Given the description of an element on the screen output the (x, y) to click on. 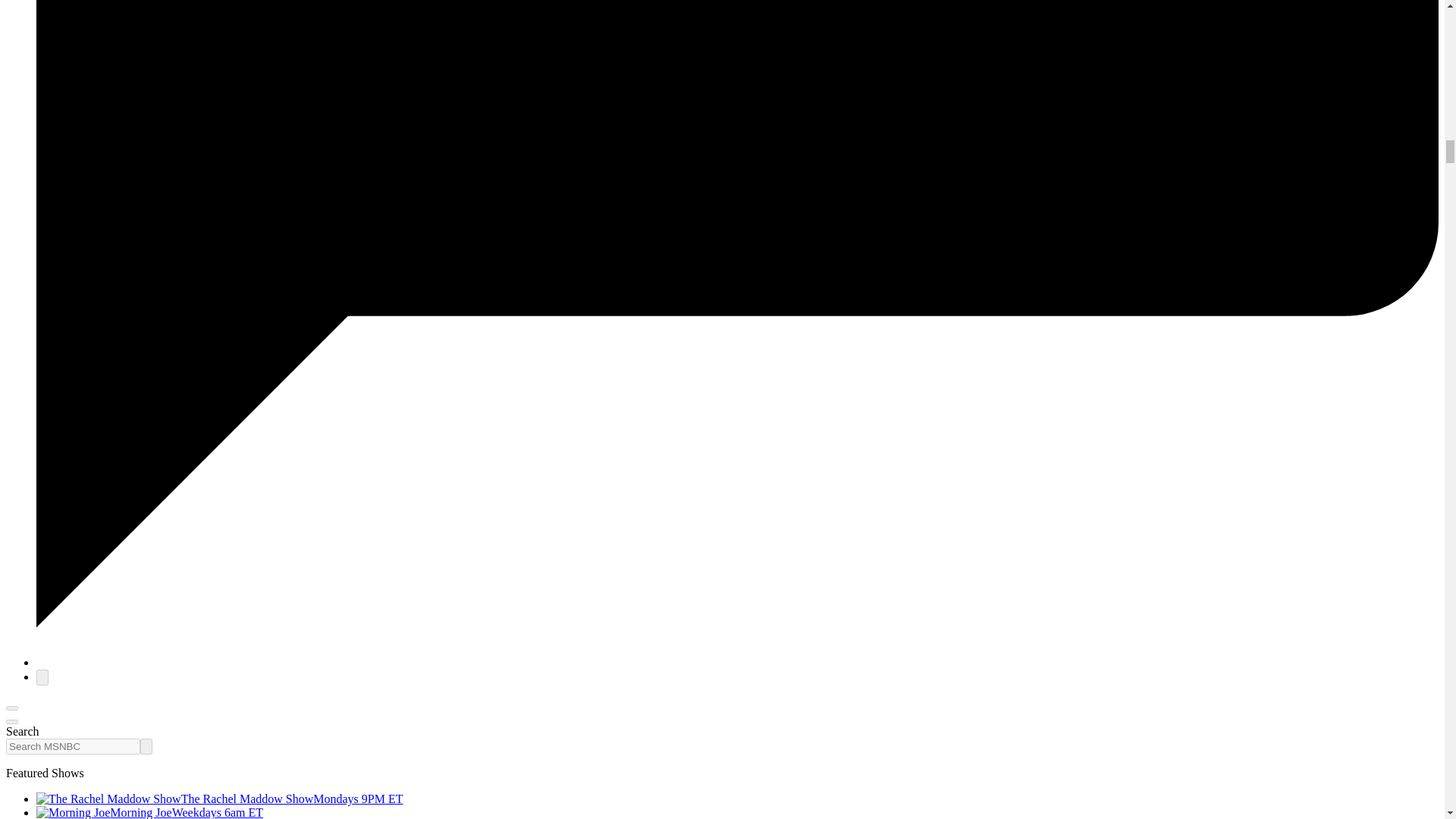
Search (145, 746)
The Rachel Maddow ShowMondays 9PM ET (219, 798)
Morning JoeWeekdays 6am ET (149, 812)
